Given the description of an element on the screen output the (x, y) to click on. 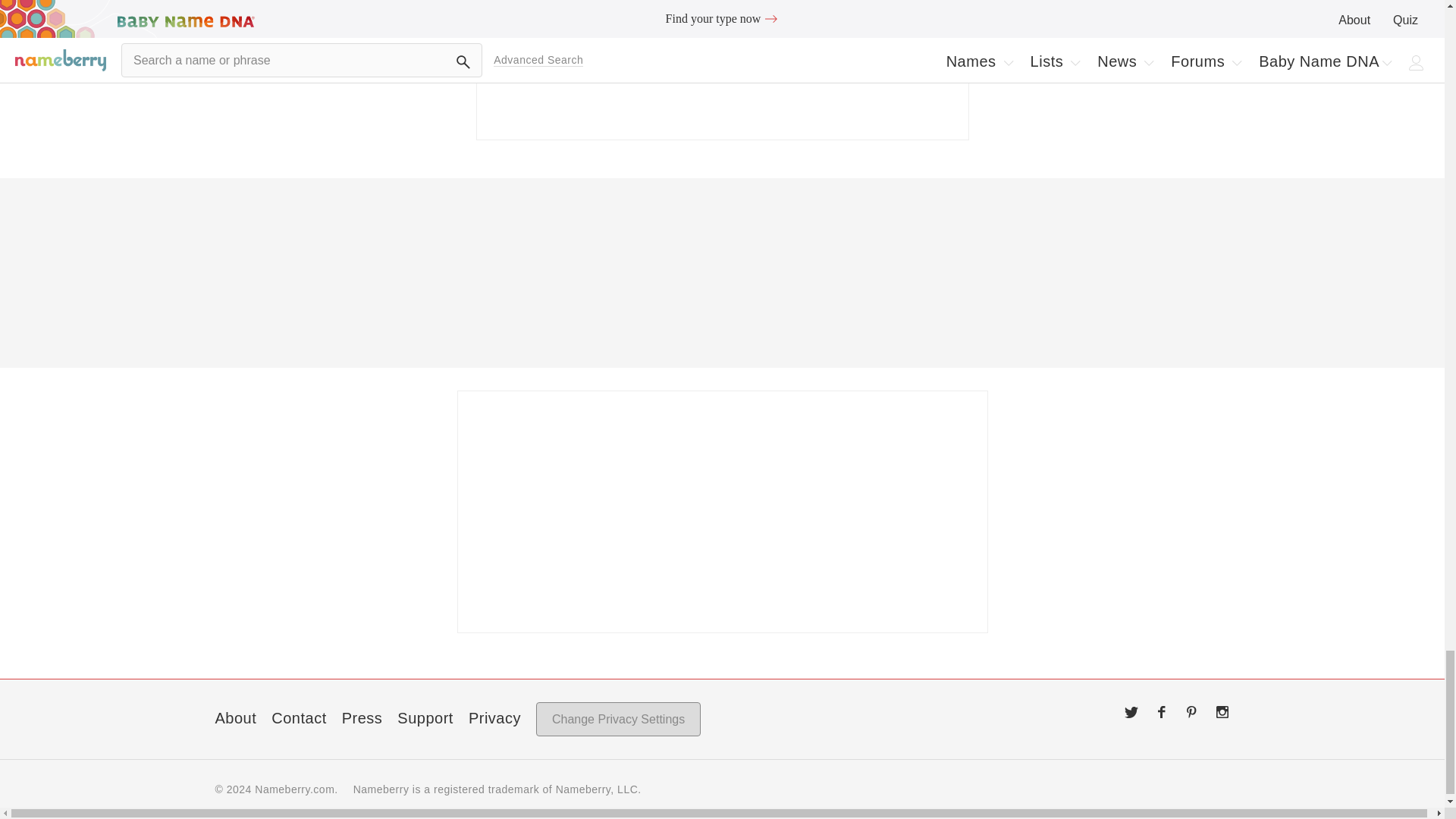
Sign up for the Nameberry Newsletter (722, 511)
Facebook (1161, 711)
Instagram (1222, 711)
Pinterest (1192, 711)
Sign up for the Nameberry Newsletter (722, 70)
Twitter (1131, 711)
